Given the description of an element on the screen output the (x, y) to click on. 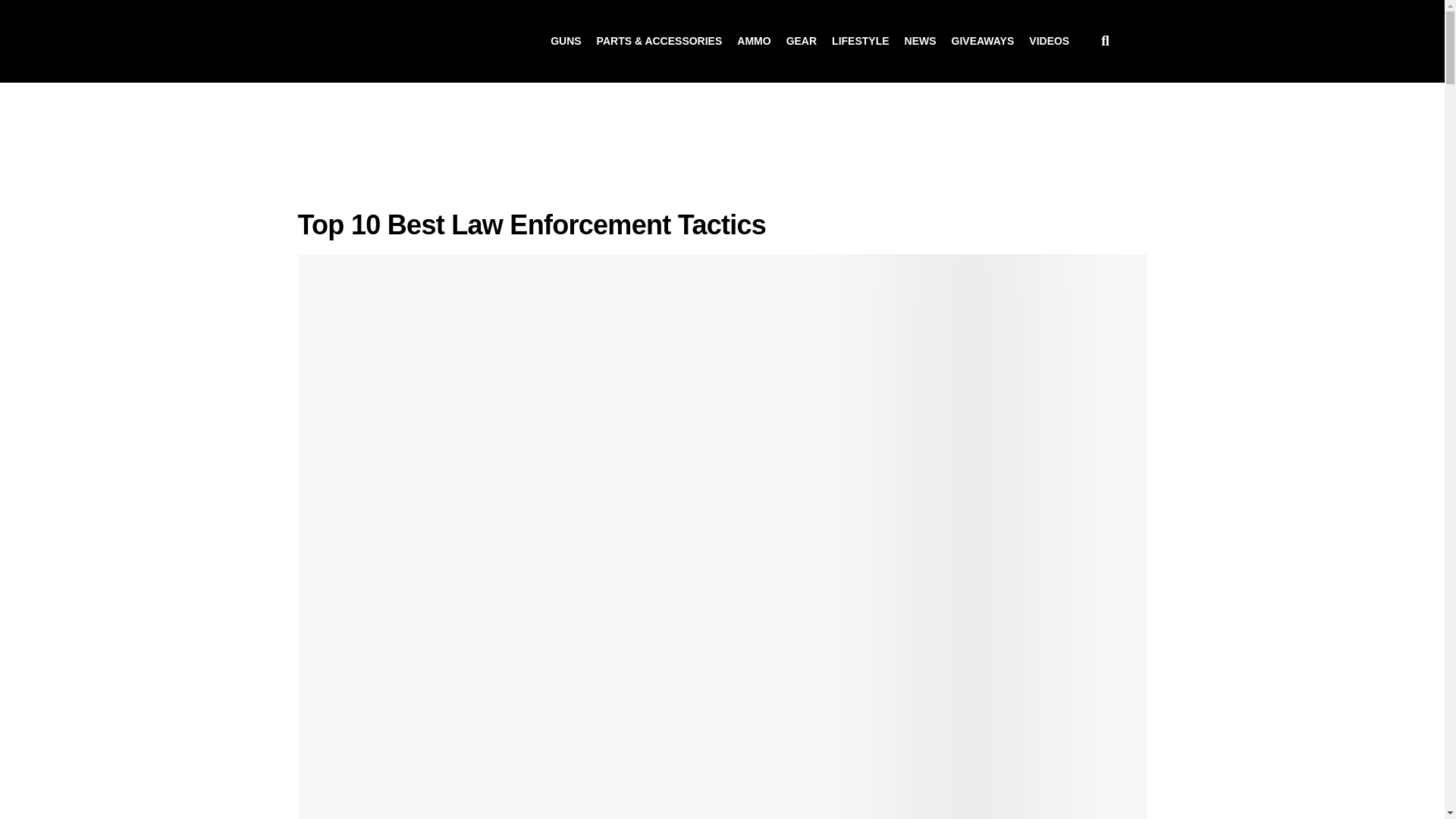
GUNS (565, 40)
AMMO (753, 40)
LIFESTYLE (860, 40)
GEAR (801, 40)
